Given the description of an element on the screen output the (x, y) to click on. 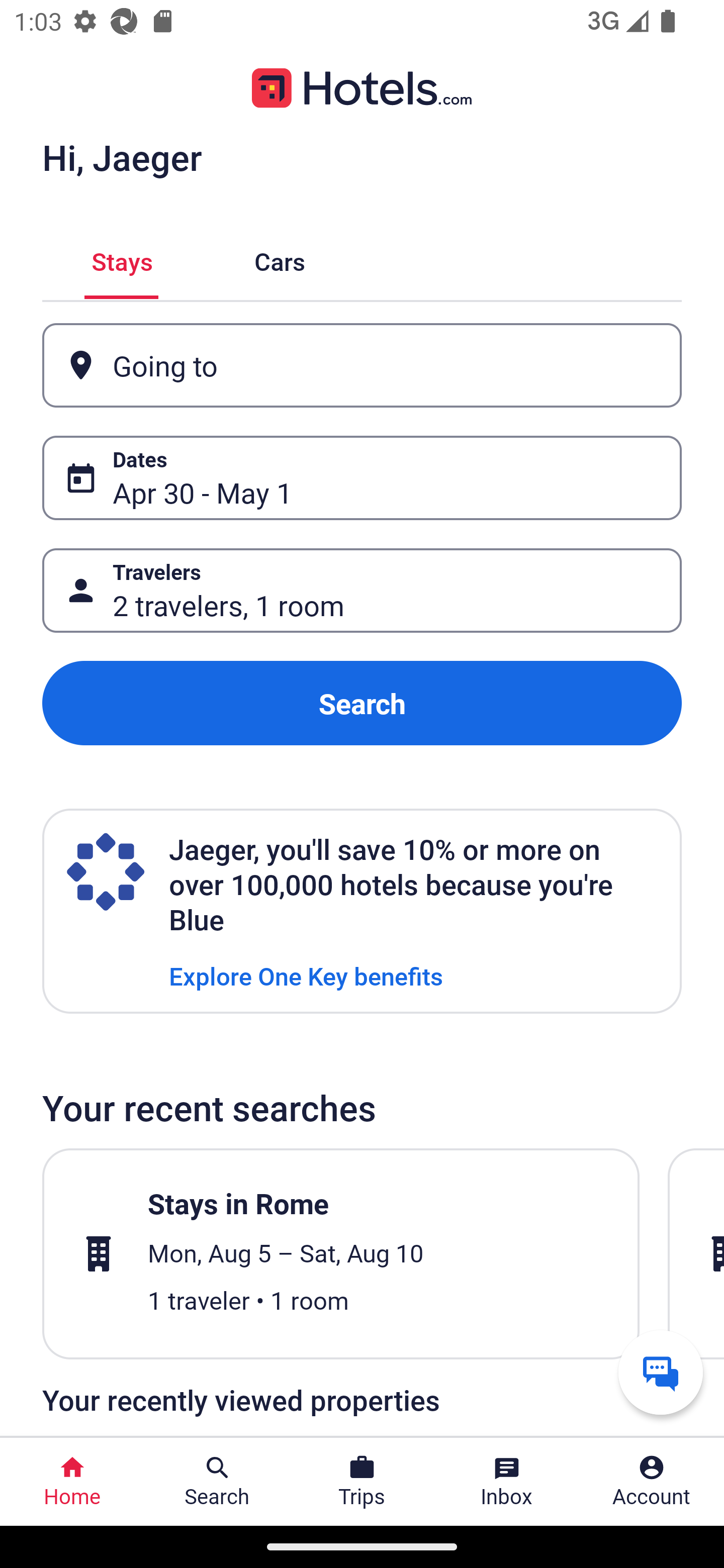
Hi, Jaeger (121, 156)
Cars (279, 259)
Going to Button (361, 365)
Dates Button Apr 30 - May 1 (361, 477)
Travelers Button 2 travelers, 1 room (361, 590)
Search (361, 702)
Get help from a virtual agent (660, 1371)
Search Search Button (216, 1481)
Trips Trips Button (361, 1481)
Inbox Inbox Button (506, 1481)
Account Profile. Button (651, 1481)
